Given the description of an element on the screen output the (x, y) to click on. 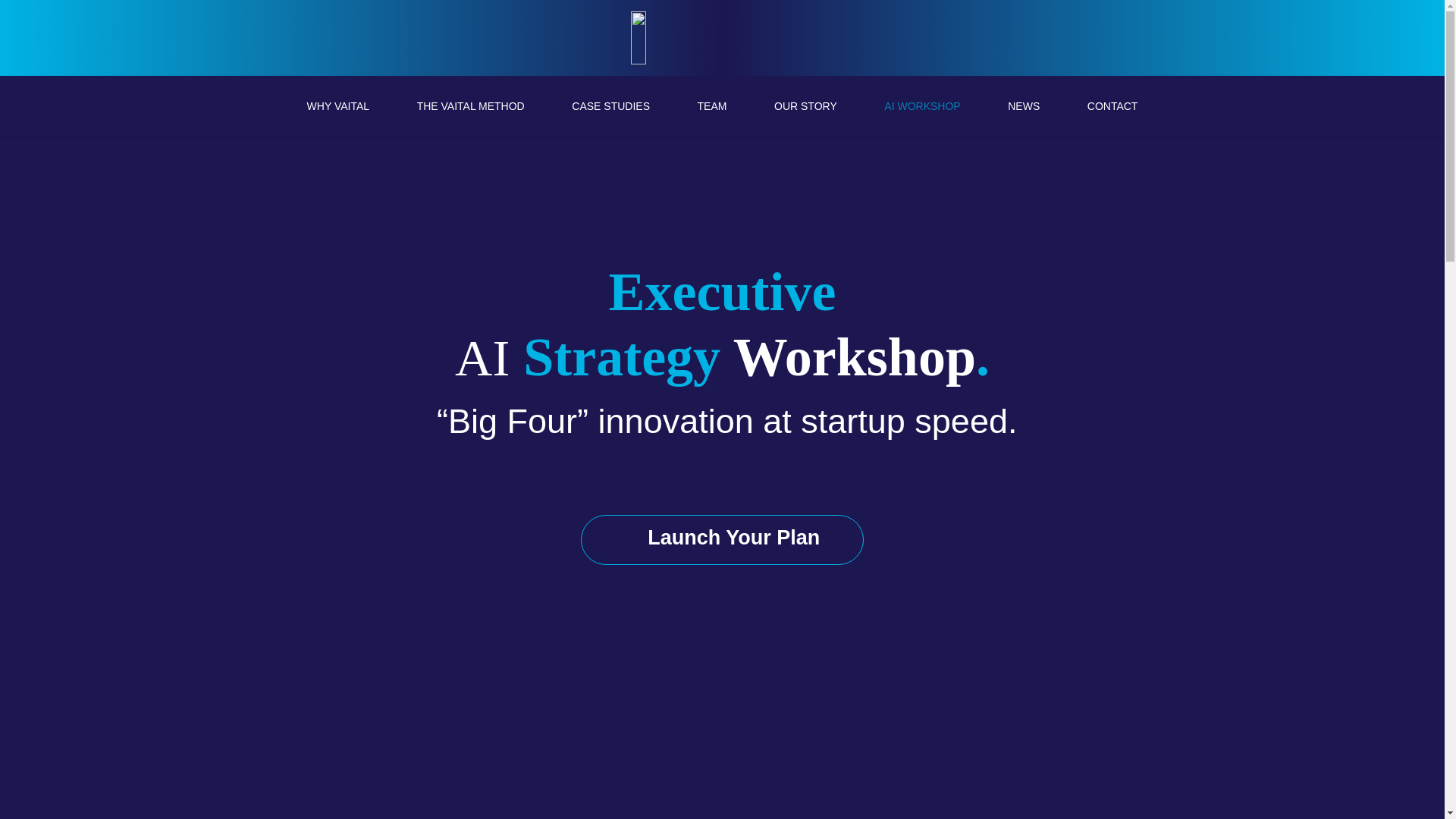
AI WORKSHOP (922, 106)
Launch Your Plan (721, 540)
WHY VAITAL (337, 106)
CASE STUDIES (610, 106)
THE VAITAL METHOD (470, 106)
CONTACT (1111, 106)
OUR STORY (804, 106)
